Given the description of an element on the screen output the (x, y) to click on. 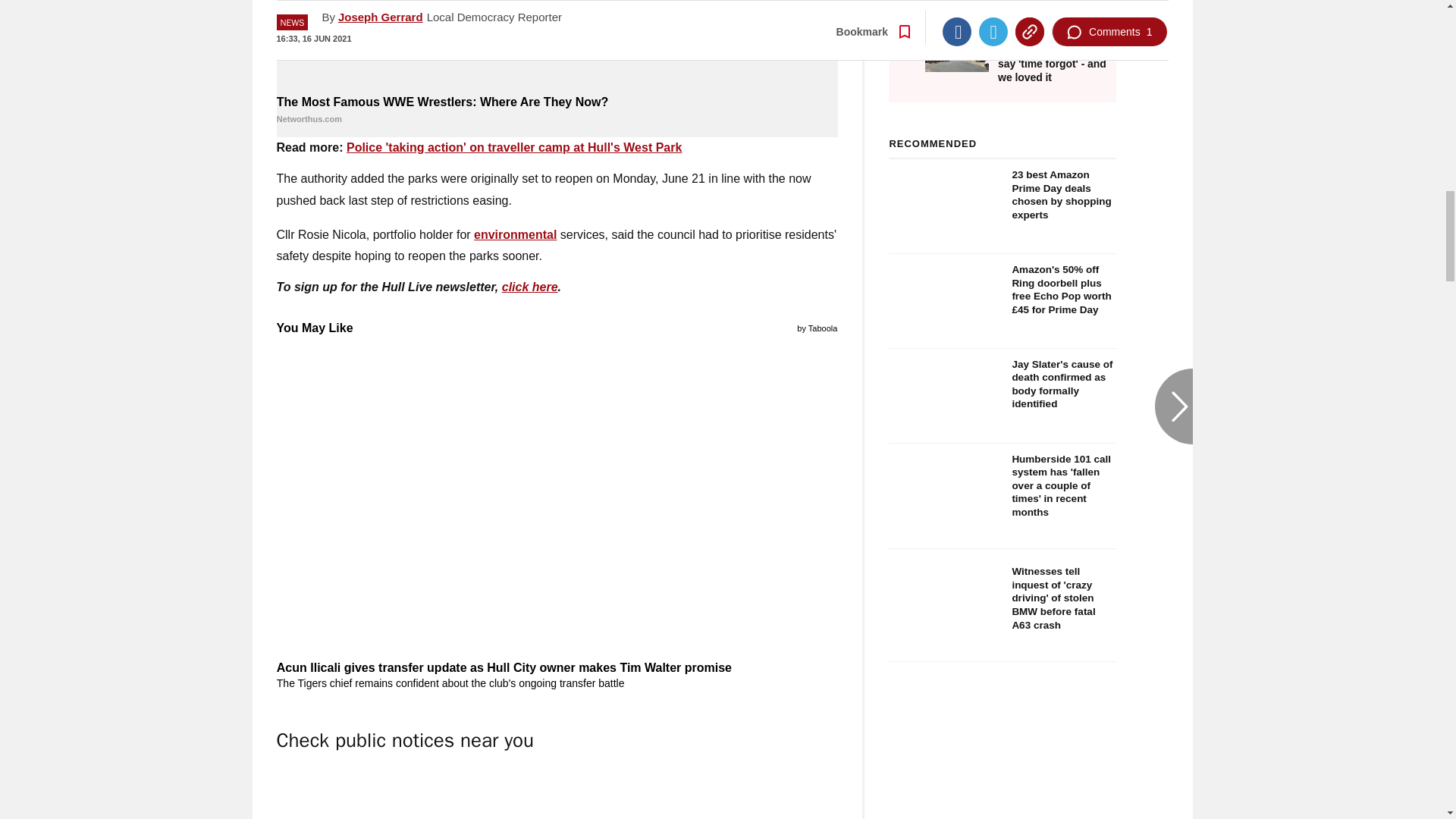
The Most Famous WWE Wrestlers: Where Are They Now? (557, 45)
